Given the description of an element on the screen output the (x, y) to click on. 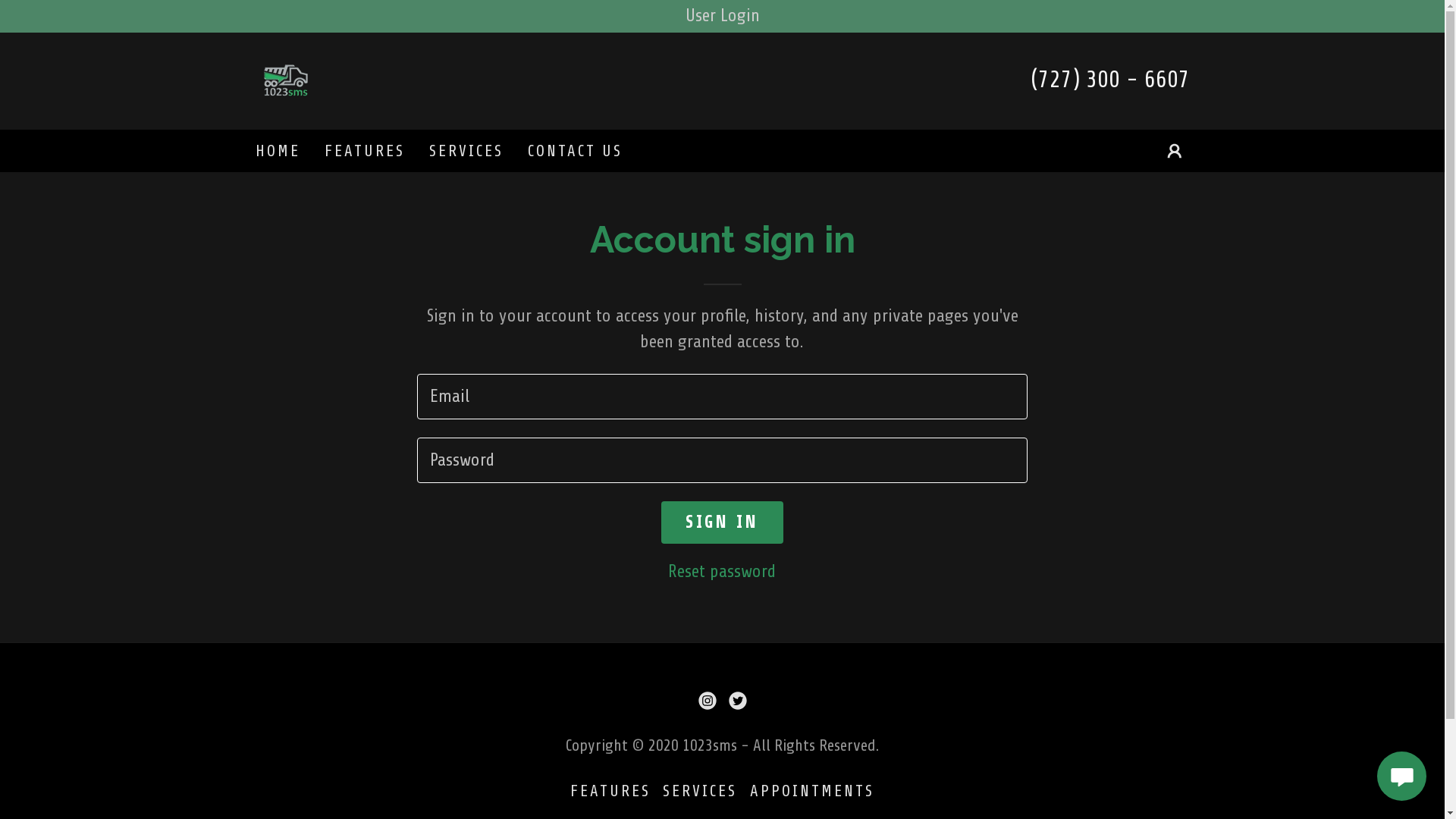
Reset password Element type: text (721, 571)
FEATURES Element type: text (364, 149)
SERVICES Element type: text (466, 149)
(727) 300 - 6607 Element type: text (1109, 79)
HOME Element type: text (277, 149)
1023sms Element type: hover (284, 79)
SIGN IN Element type: text (721, 522)
FEATURES Element type: text (610, 790)
User Login Element type: text (722, 16)
CONTACT US Element type: text (575, 149)
SERVICES Element type: text (699, 790)
APPOINTMENTS Element type: text (811, 790)
